Given the description of an element on the screen output the (x, y) to click on. 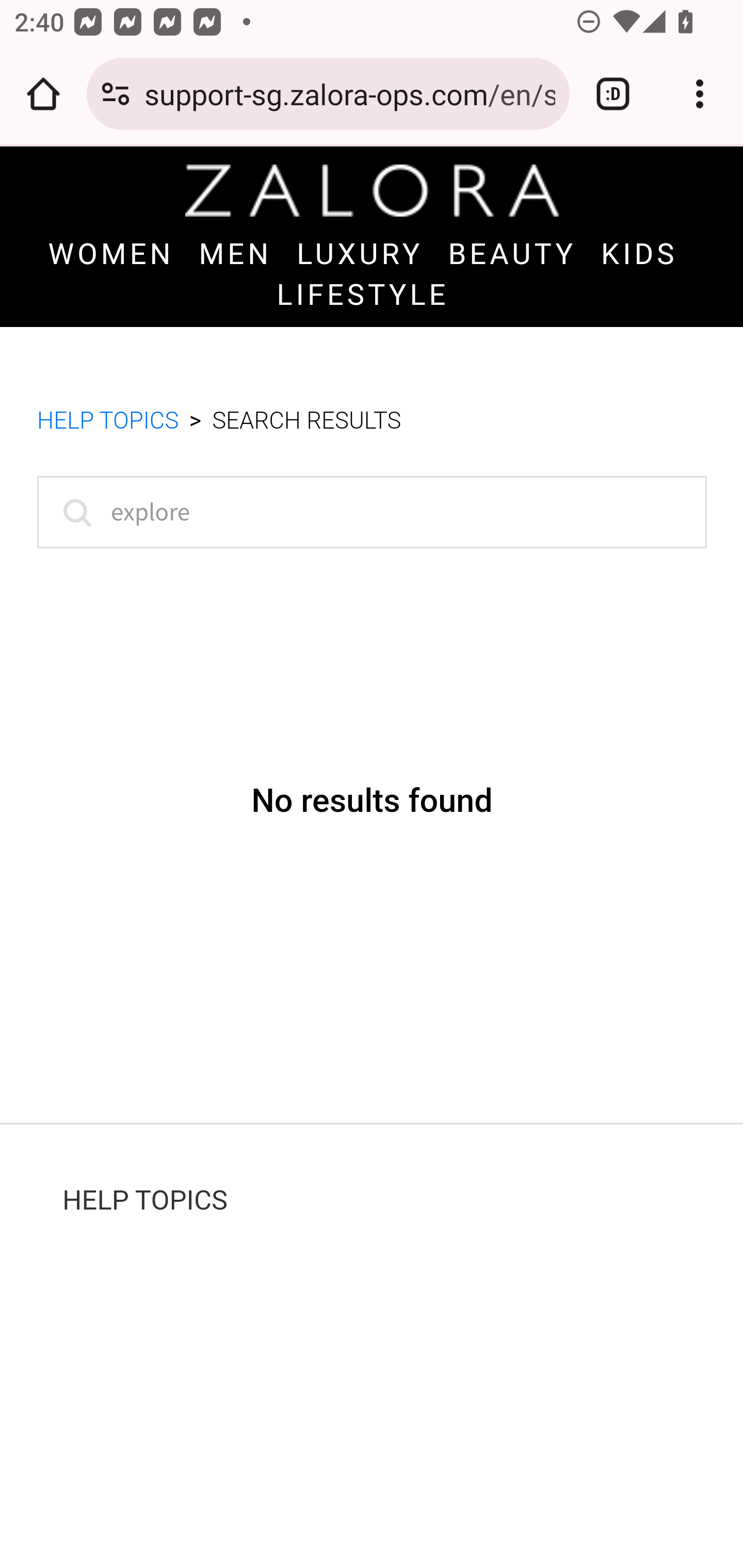
Open the home page (43, 93)
Connection is secure (115, 93)
Switch or close tabs (612, 93)
Customize and control Google Chrome (699, 93)
logo (371, 189)
WOMEN (110, 254)
MEN (235, 254)
LUXURY (360, 254)
BEAUTY (513, 254)
KIDS (639, 254)
LIFESTYLE (362, 293)
HELP TOPICS (108, 421)
explore (372, 511)
Search (72, 511)
HELP TOPICS (145, 1199)
